Given the description of an element on the screen output the (x, y) to click on. 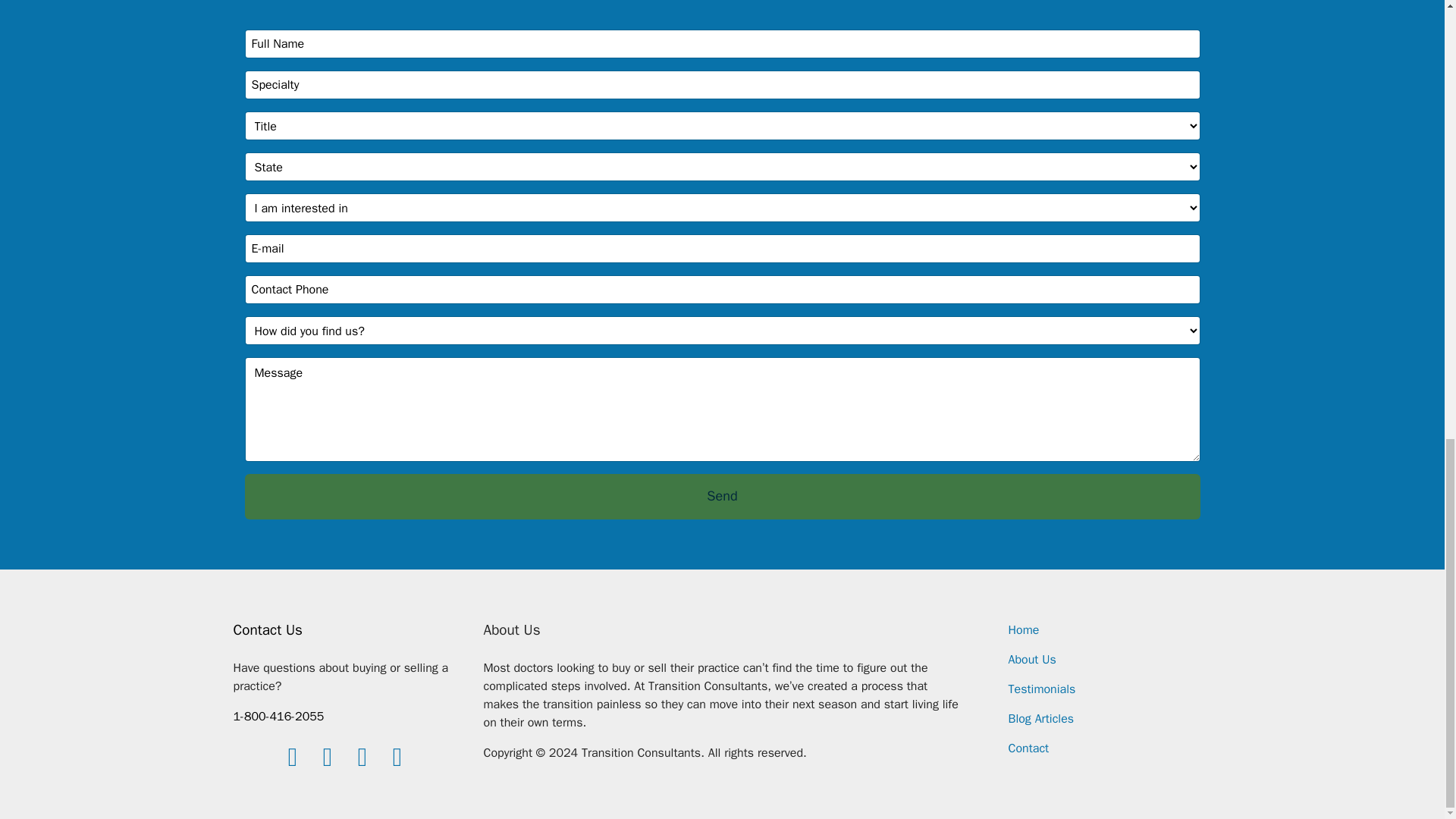
Contact Us (267, 629)
Blog Articles (1041, 718)
Send (721, 496)
Home (1024, 630)
1-800-416-2055 (278, 716)
linkedin (327, 757)
Contact (1029, 748)
twitter (362, 757)
youtube (397, 757)
About Us (1033, 659)
facebook (292, 757)
Testimonials (1042, 688)
